Given the description of an element on the screen output the (x, y) to click on. 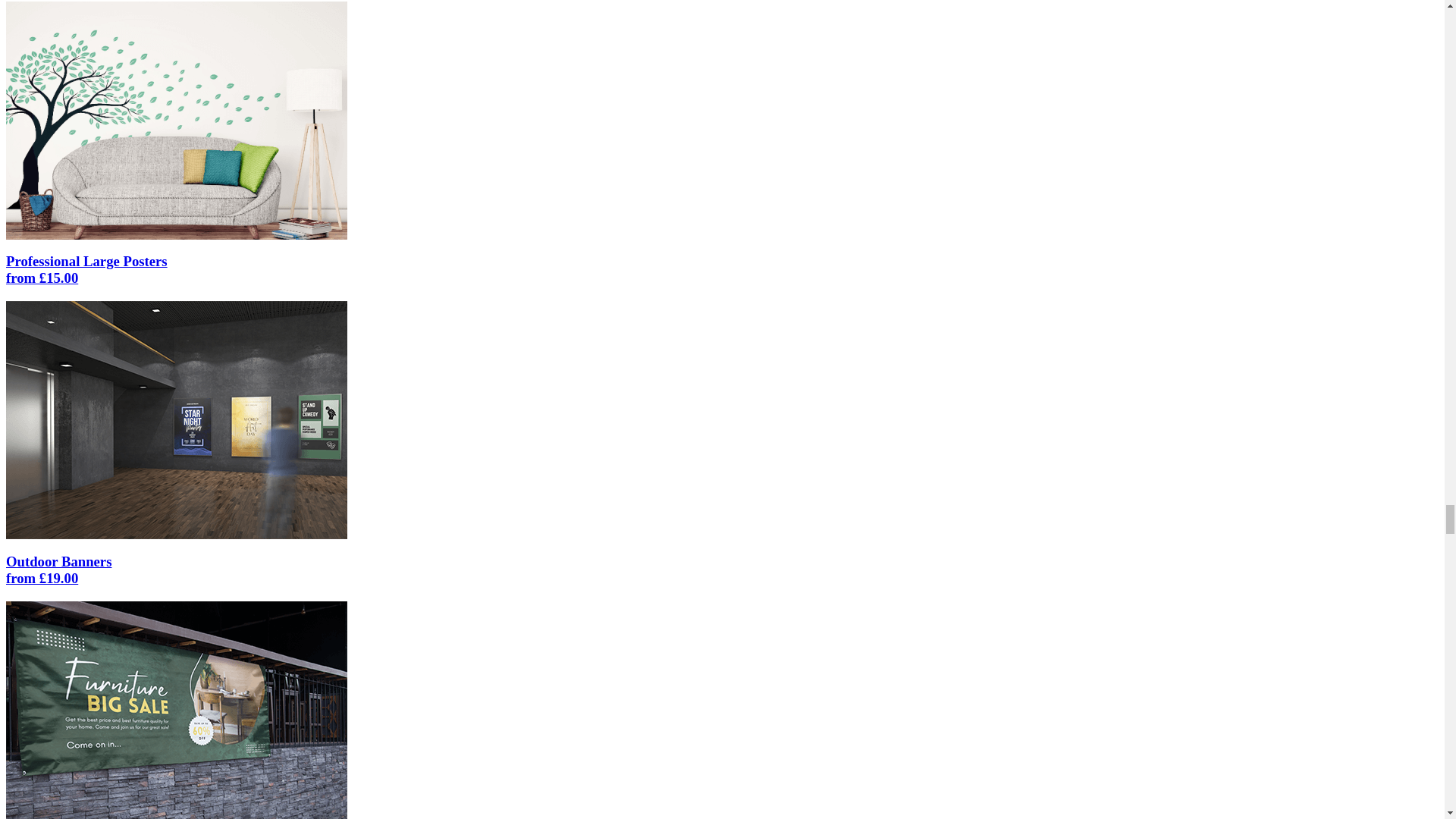
Order Wall Stickers (176, 118)
Order Posters (176, 418)
